Given the description of an element on the screen output the (x, y) to click on. 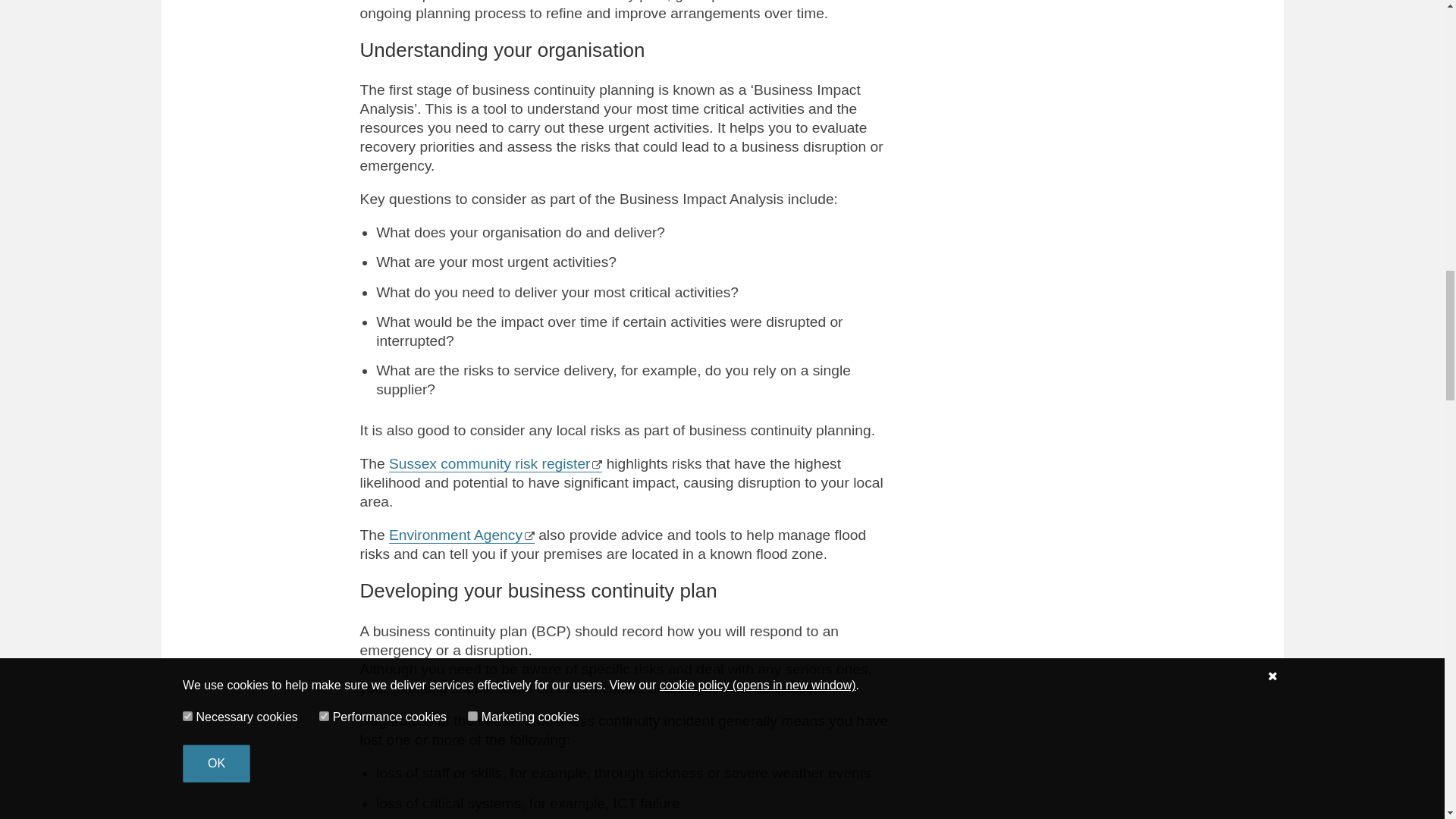
Sussex community risk register (495, 463)
Environment Agency (461, 535)
